Given the description of an element on the screen output the (x, y) to click on. 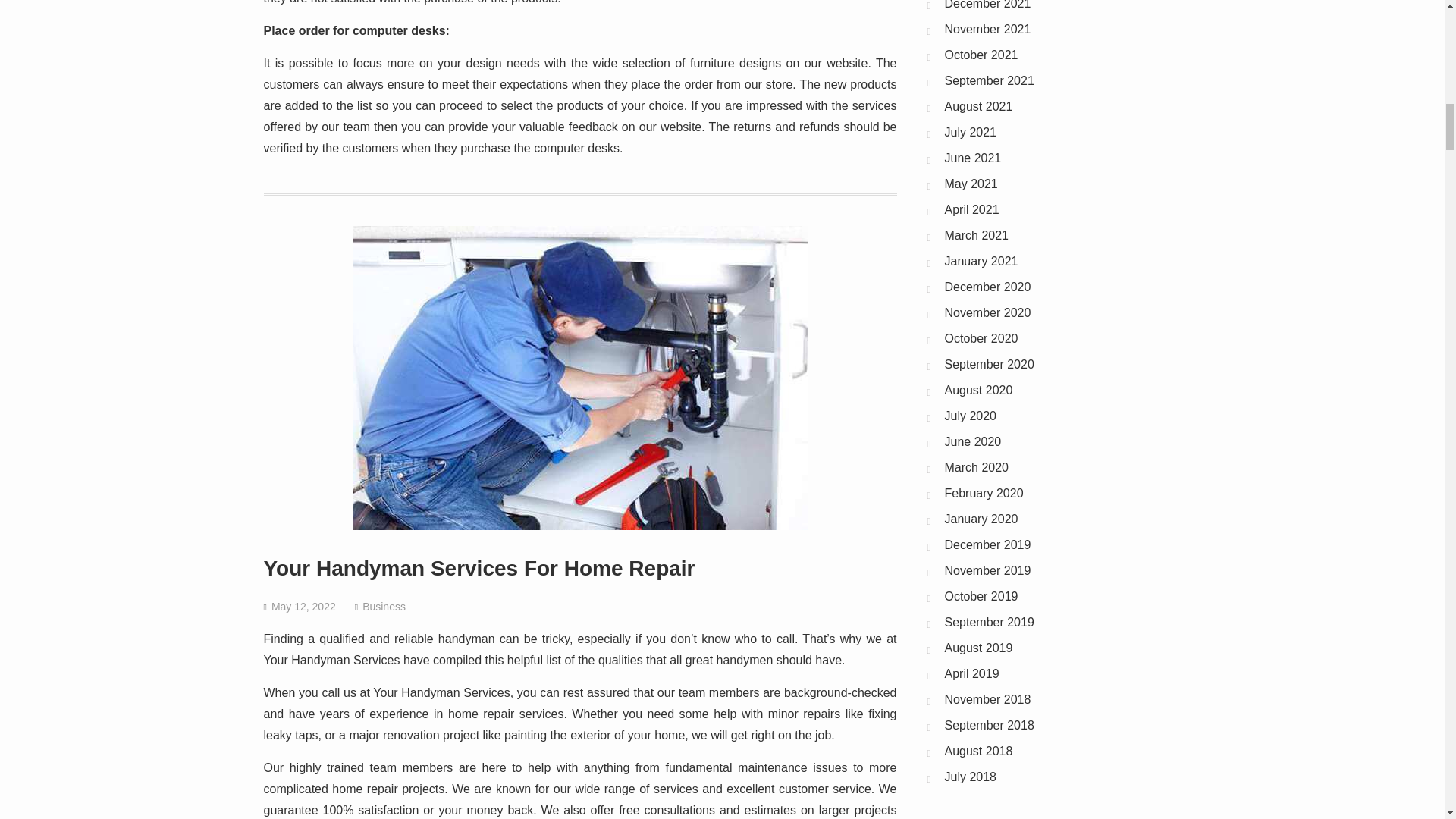
May 12, 2022 (303, 606)
Your Handyman Services For Home Repair (479, 567)
Business (384, 606)
